Given the description of an element on the screen output the (x, y) to click on. 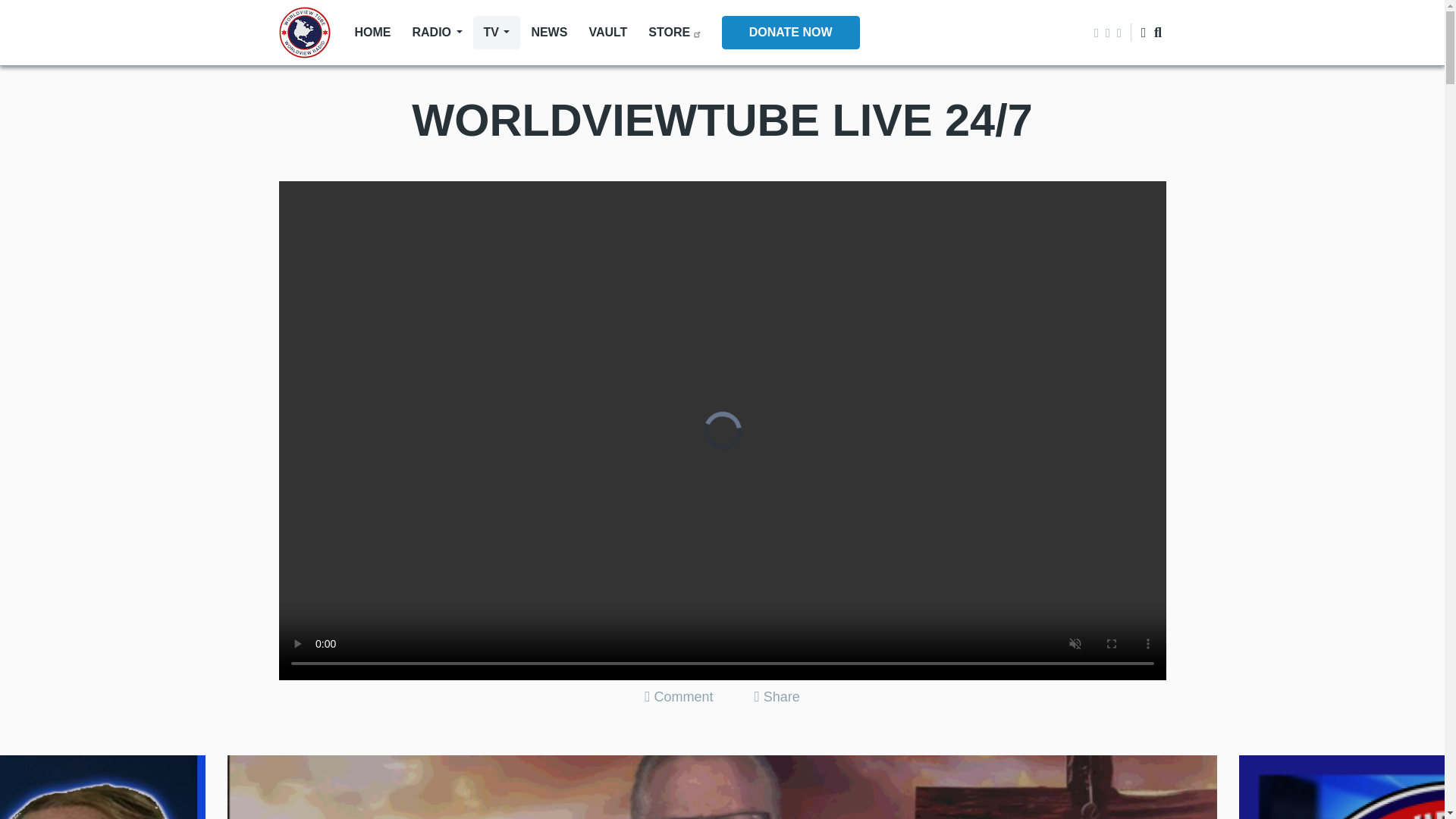
TV (497, 32)
NEWS (548, 32)
HOME (372, 32)
Search (1131, 86)
VAULT (607, 32)
DONATE NOW (791, 32)
RADIO (437, 32)
